Given the description of an element on the screen output the (x, y) to click on. 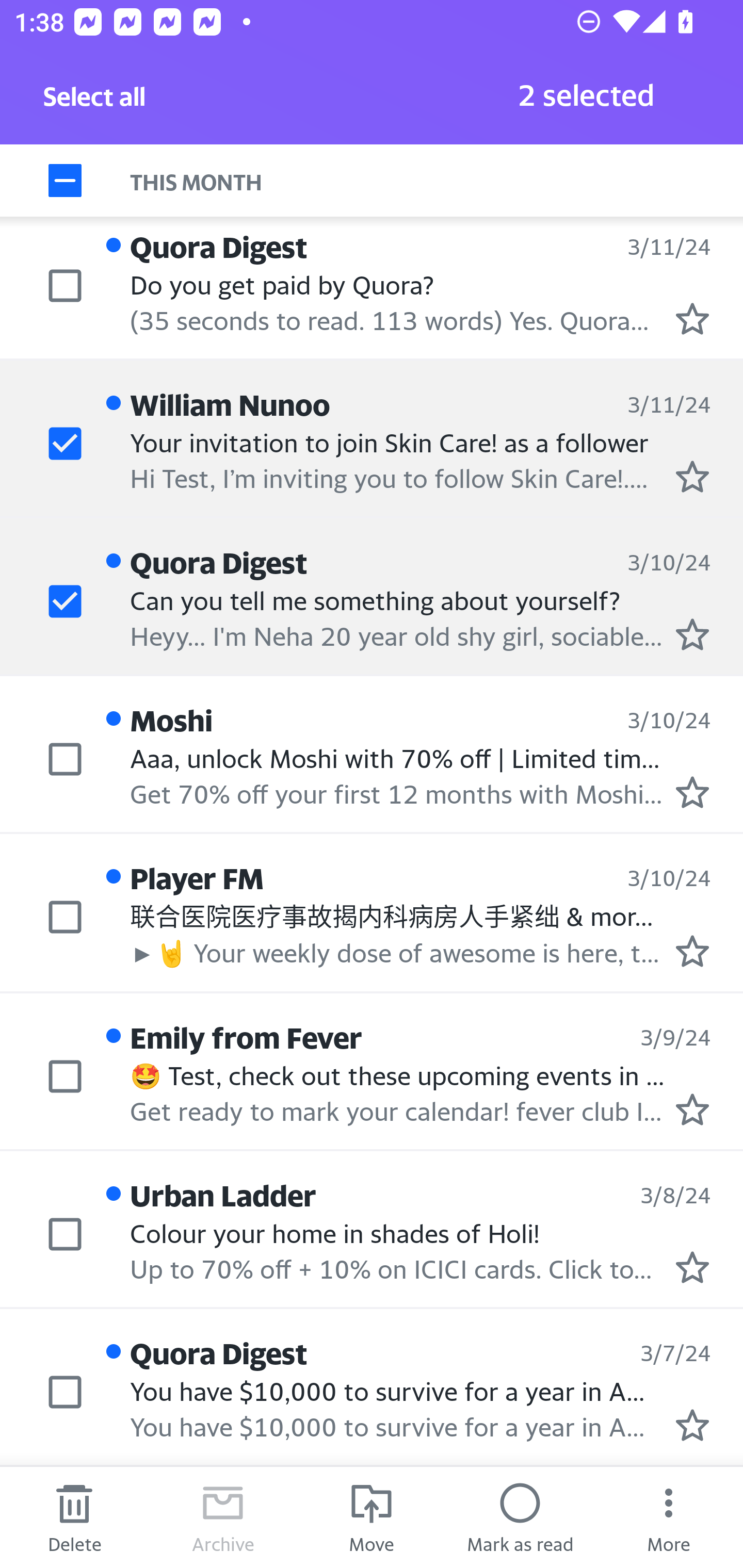
Select all (94, 101)
Mark as starred. (692, 319)
Mark as starred. (692, 475)
Mark as starred. (692, 634)
Mark as starred. (692, 792)
Mark as starred. (692, 950)
Mark as starred. (692, 1109)
Mark as starred. (692, 1267)
Mark as starred. (692, 1424)
Delete (74, 1517)
Archive (222, 1517)
Move (371, 1517)
Mark as read (519, 1517)
More (668, 1517)
